Given the description of an element on the screen output the (x, y) to click on. 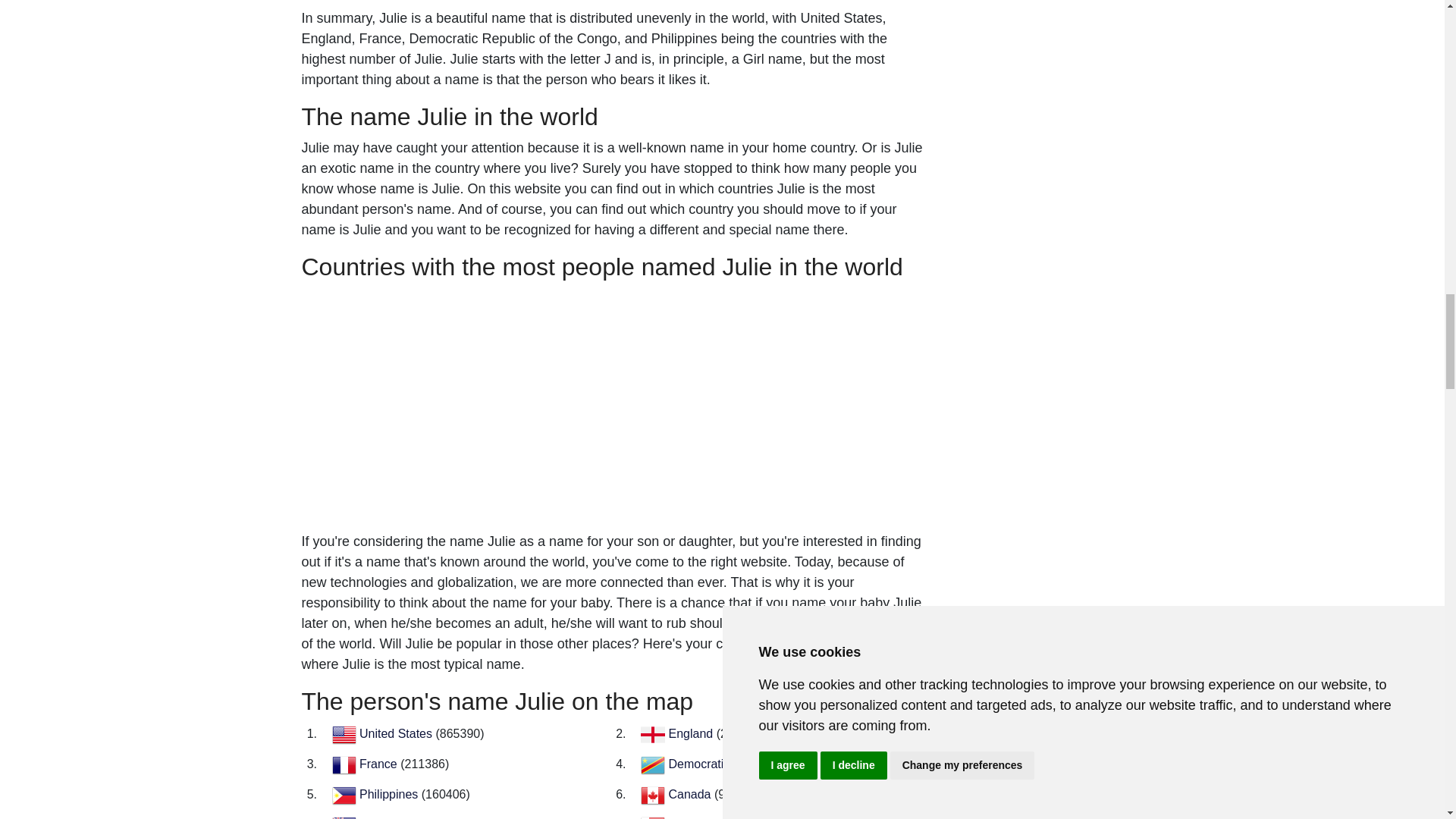
Australia (383, 818)
Madagascar (703, 818)
Philippines (390, 793)
Canada (691, 793)
Democratic Republic of the Congo (762, 763)
France (379, 763)
England (692, 733)
View Julie name map (614, 515)
United States (397, 733)
